Given the description of an element on the screen output the (x, y) to click on. 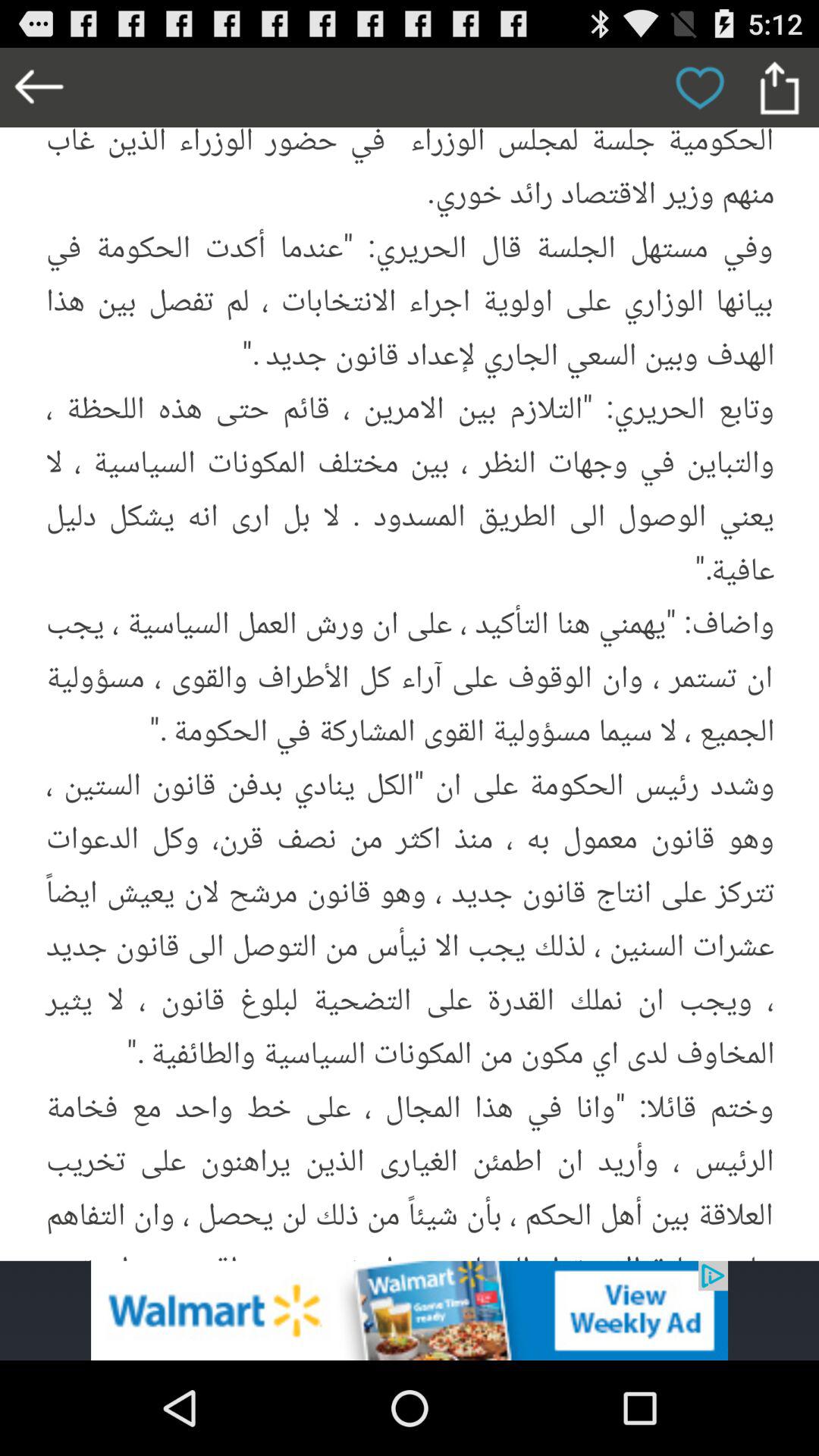
heart this (699, 87)
